Given the description of an element on the screen output the (x, y) to click on. 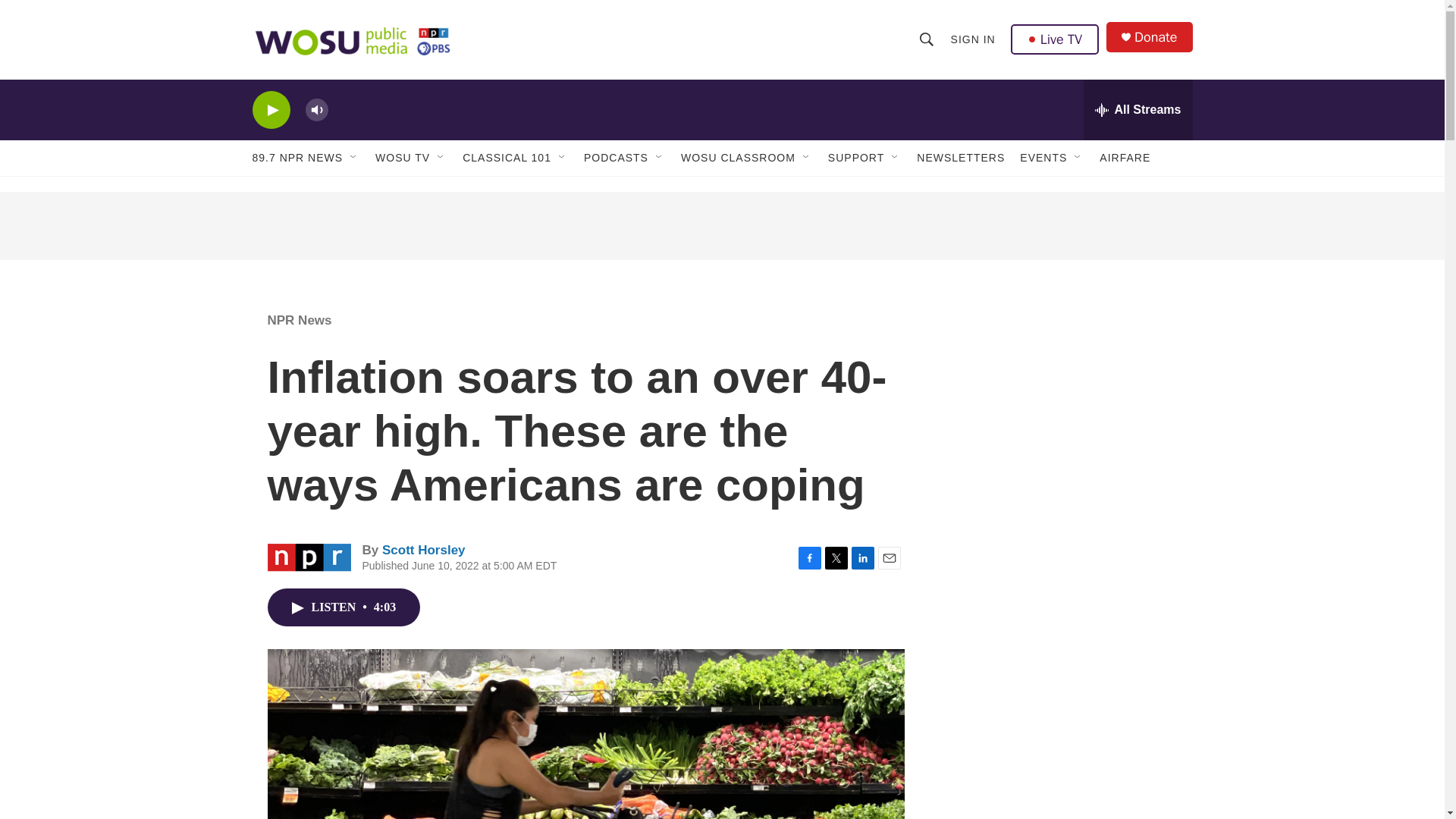
3rd party ad content (1062, 782)
3rd party ad content (1062, 619)
3rd party ad content (1062, 400)
3rd party ad content (721, 225)
